Given the description of an element on the screen output the (x, y) to click on. 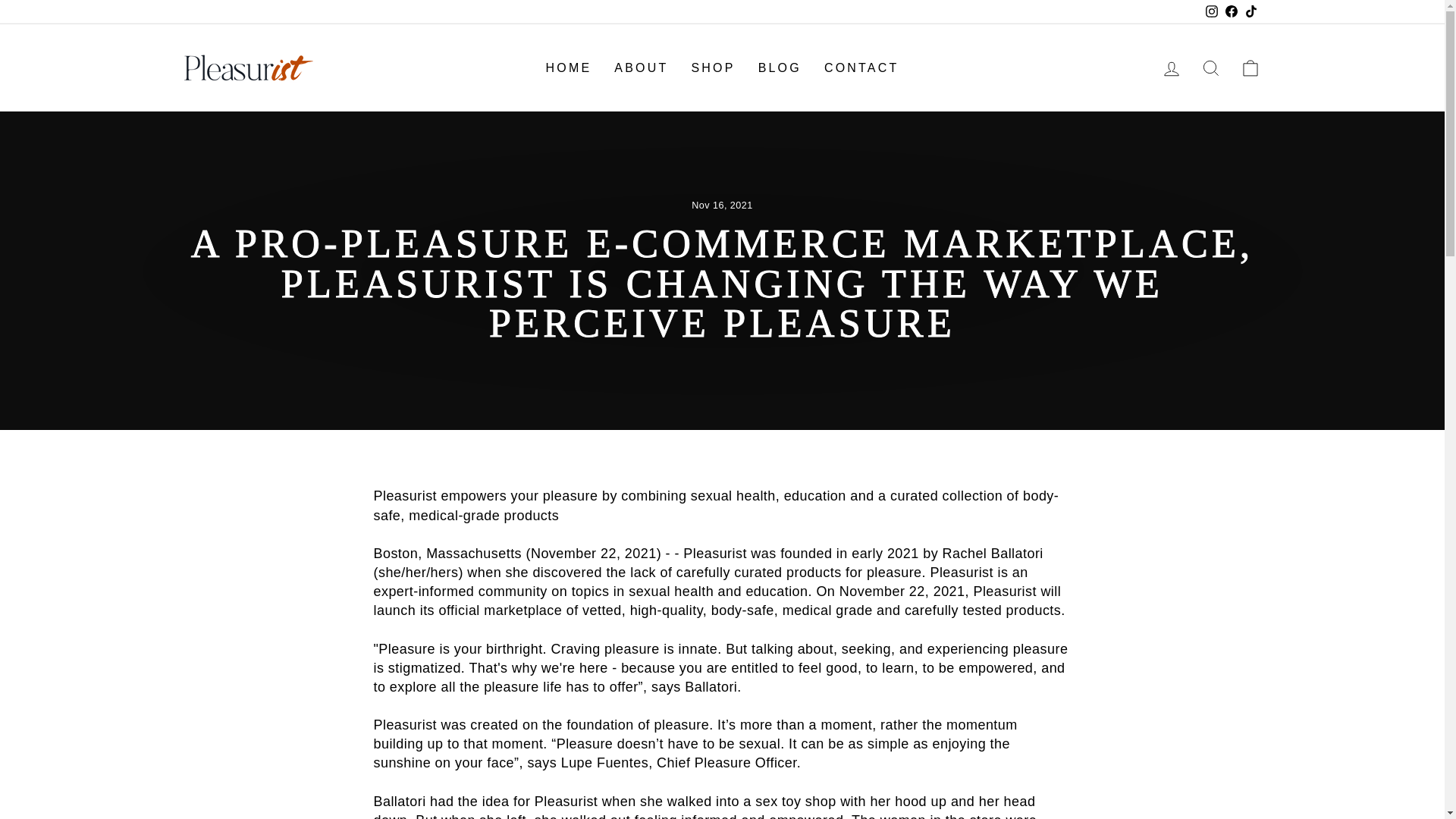
HOME (569, 67)
ABOUT (640, 67)
